Given the description of an element on the screen output the (x, y) to click on. 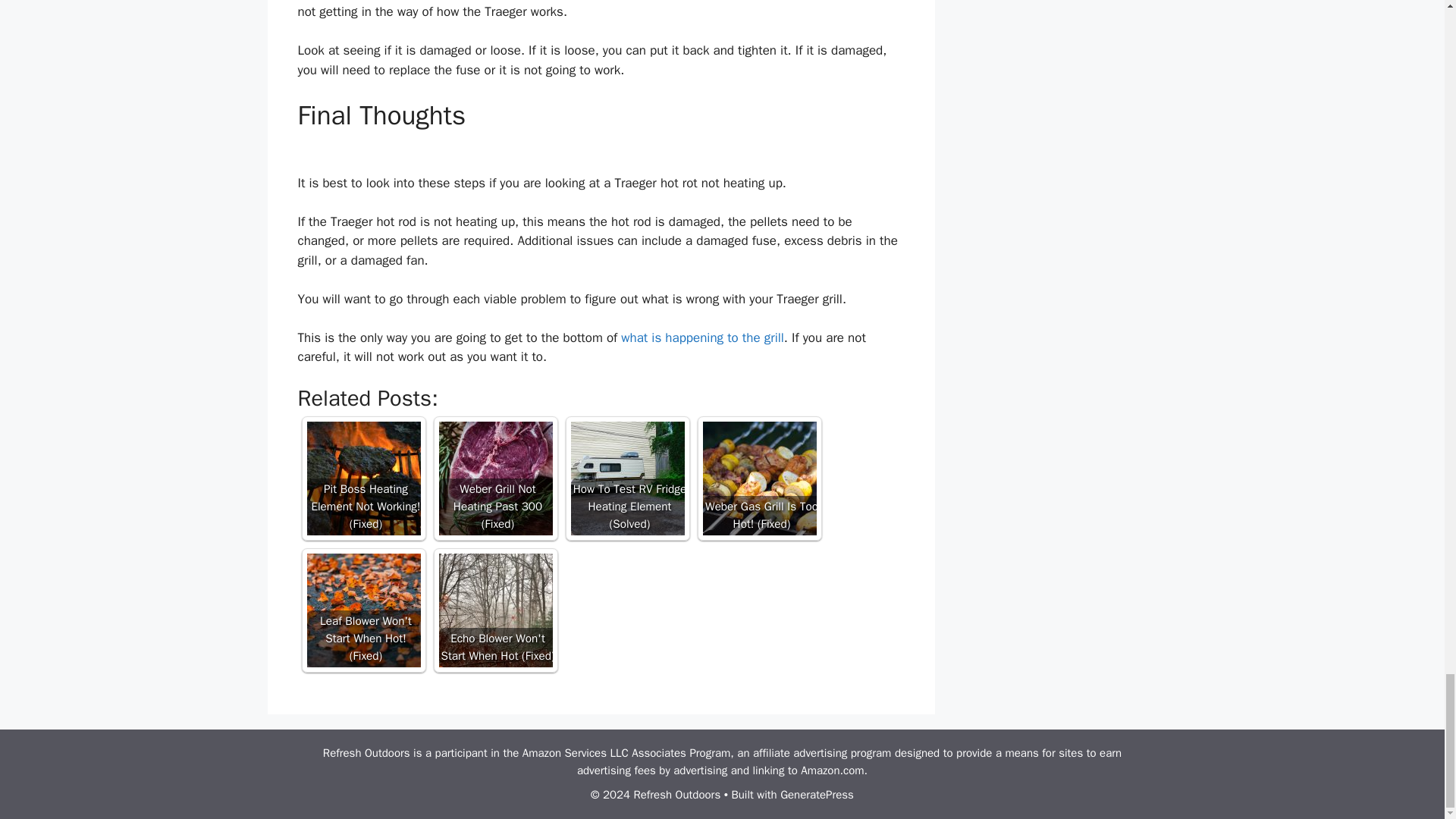
what is happening to the grill (702, 337)
